Given the description of an element on the screen output the (x, y) to click on. 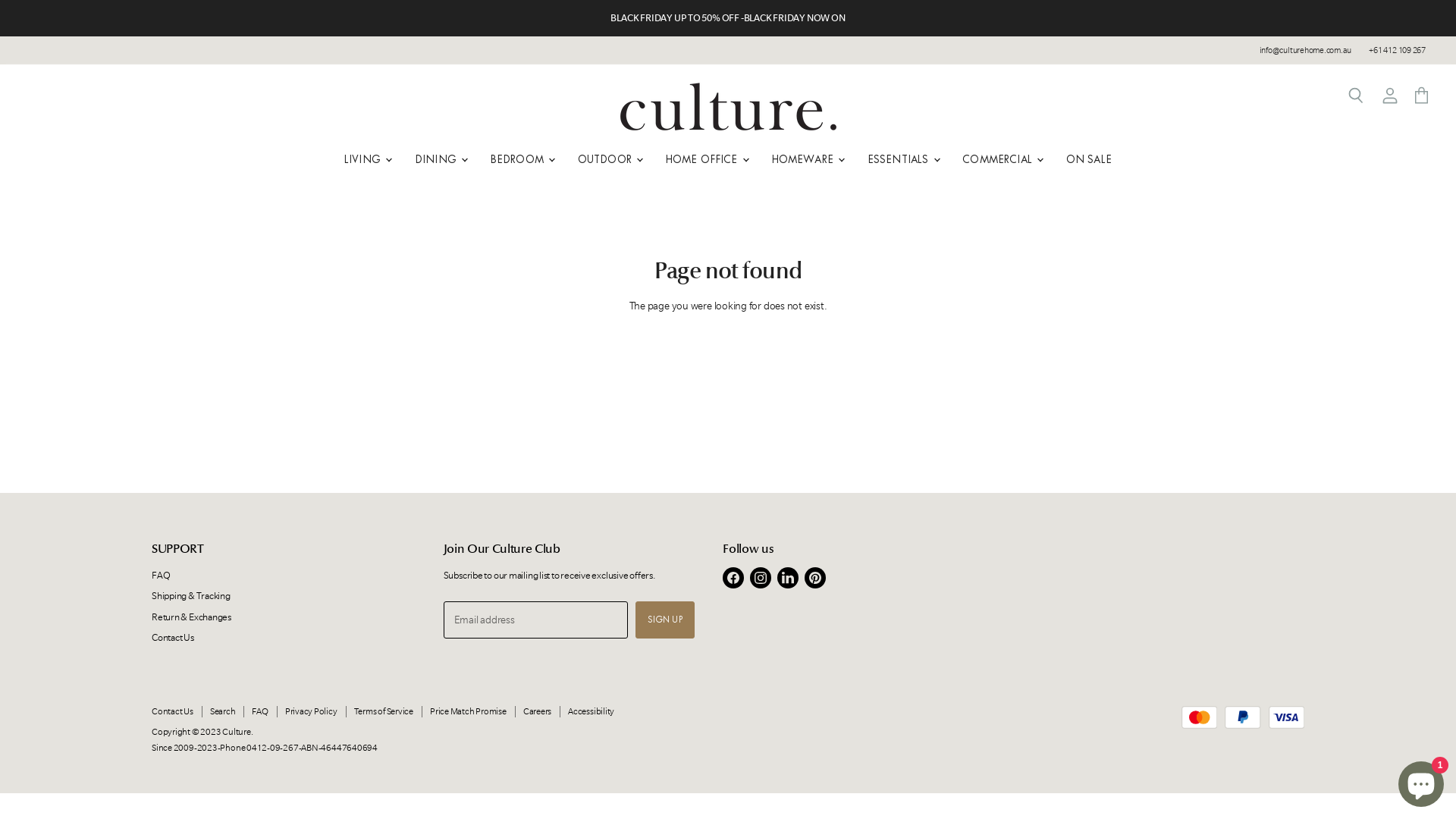
+61 412 109 267 Element type: text (1396, 50)
Terms of Service Element type: text (383, 711)
info@culturehome.com.au Element type: text (1305, 50)
Price Match Promise Element type: text (467, 711)
Search Element type: text (1355, 95)
Contact Us Element type: text (172, 637)
Careers Element type: text (537, 711)
ESSENTIALS Element type: text (902, 159)
Accessibility Element type: text (590, 711)
Find us on Pinterest Element type: text (814, 577)
Find us on LinkedIn Element type: text (787, 577)
FAQ Element type: text (160, 574)
DINING Element type: text (439, 159)
HOMEWARE Element type: text (806, 159)
Return & Exchanges Element type: text (191, 616)
View account Element type: text (1389, 95)
LIVING Element type: text (366, 159)
Privacy Policy Element type: text (311, 711)
Shopify online store chat Element type: hover (1420, 780)
Contact Us Element type: text (172, 711)
HOME OFFICE Element type: text (706, 159)
ON SALE Element type: text (1088, 159)
Find us on Instagram Element type: text (760, 577)
BEDROOM Element type: text (521, 159)
SIGN UP Element type: text (664, 619)
Search Element type: text (222, 711)
FAQ Element type: text (259, 711)
Shipping & Tracking Element type: text (190, 595)
View cart Element type: text (1421, 95)
COMMERCIAL Element type: text (1001, 159)
Find us on Facebook Element type: text (732, 577)
OUTDOOR Element type: text (609, 159)
